Given the description of an element on the screen output the (x, y) to click on. 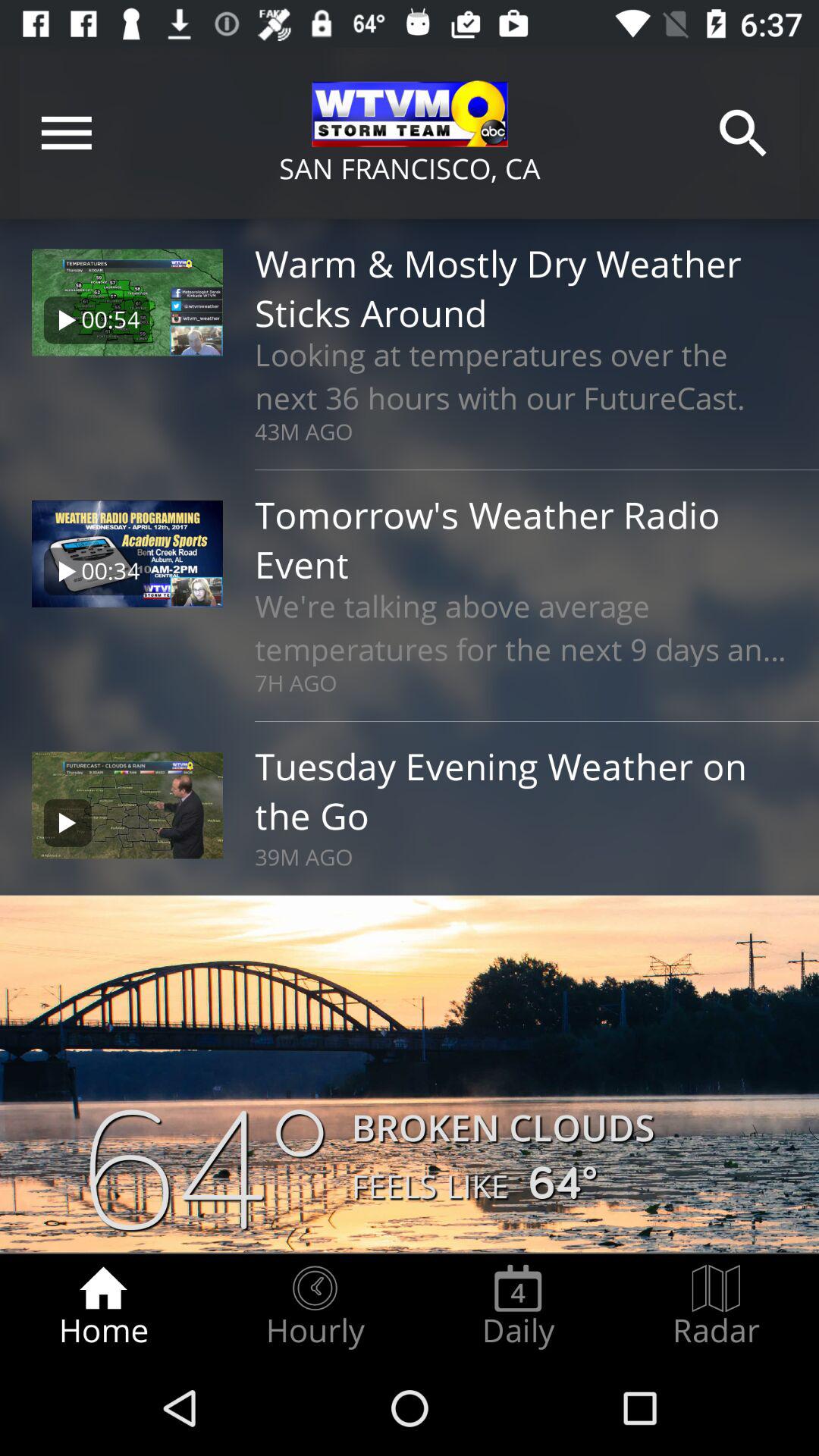
click item next to the daily radio button (716, 1307)
